Given the description of an element on the screen output the (x, y) to click on. 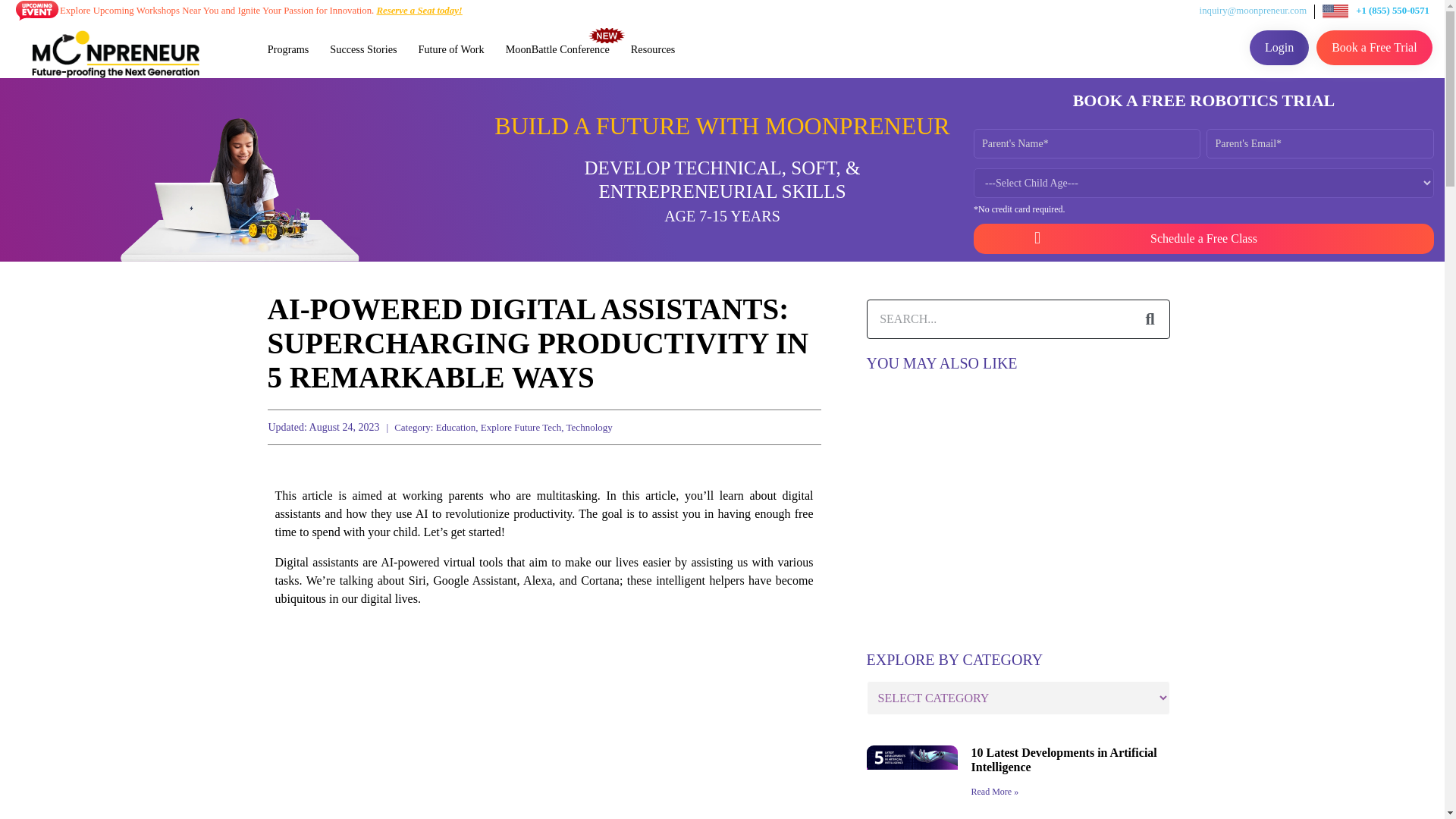
Reserve a Seat today! (418, 9)
Success Stories (362, 48)
Future of Work (451, 48)
Resources (652, 48)
Programs (288, 48)
MoonBattle Conference (557, 48)
